Given the description of an element on the screen output the (x, y) to click on. 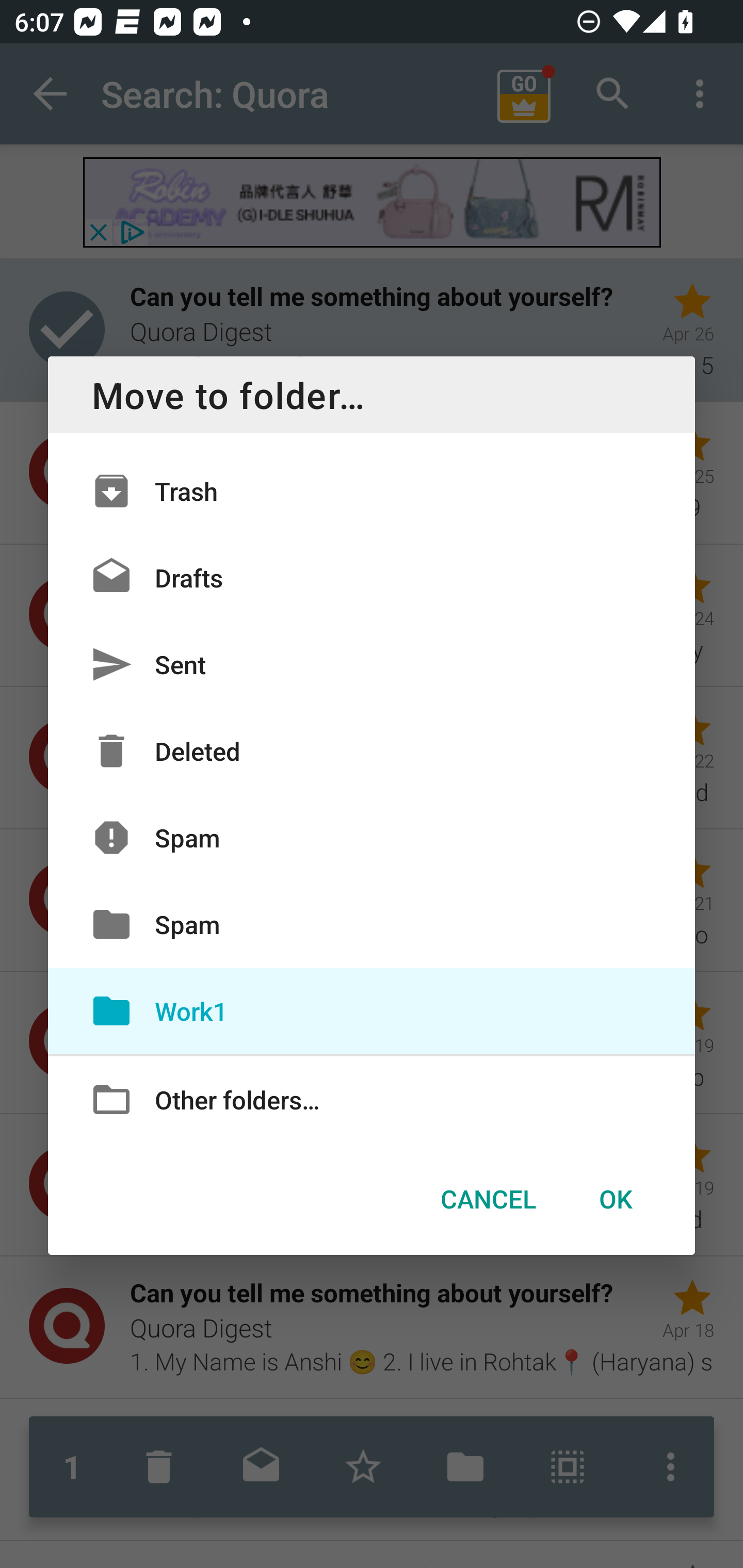
Trash (371, 491)
Drafts (371, 577)
Sent (371, 663)
Deleted (371, 750)
Spam (371, 837)
Spam (371, 924)
Work1 (371, 1010)
Other folders… (371, 1098)
CANCEL (488, 1199)
OK (615, 1199)
